Given the description of an element on the screen output the (x, y) to click on. 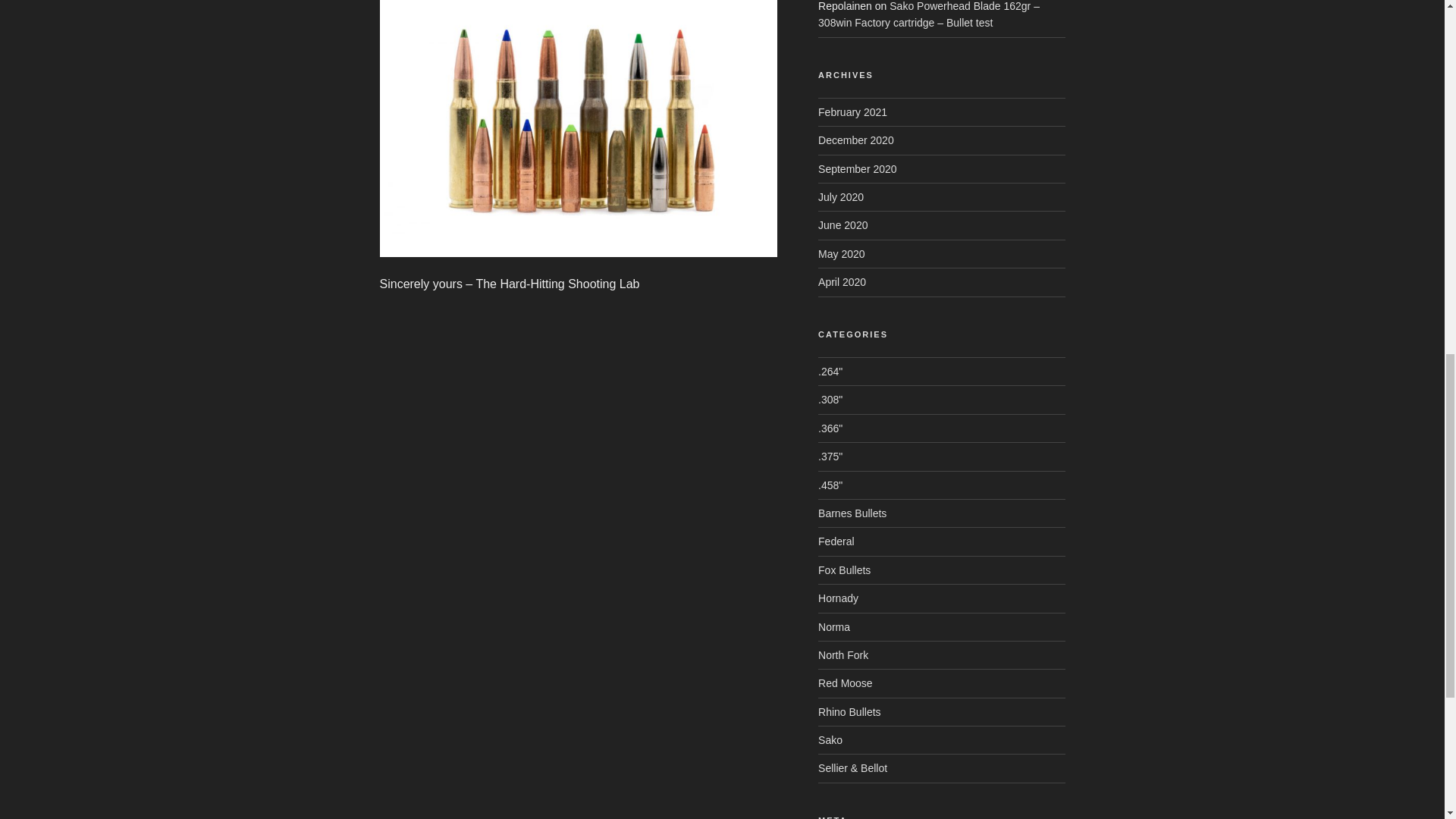
.375" (830, 456)
December 2020 (855, 140)
April 2020 (842, 282)
July 2020 (840, 196)
Barnes Bullets (852, 512)
Federal (835, 541)
.308" (830, 399)
.264" (830, 371)
September 2020 (857, 168)
.458" (830, 485)
